Given the description of an element on the screen output the (x, y) to click on. 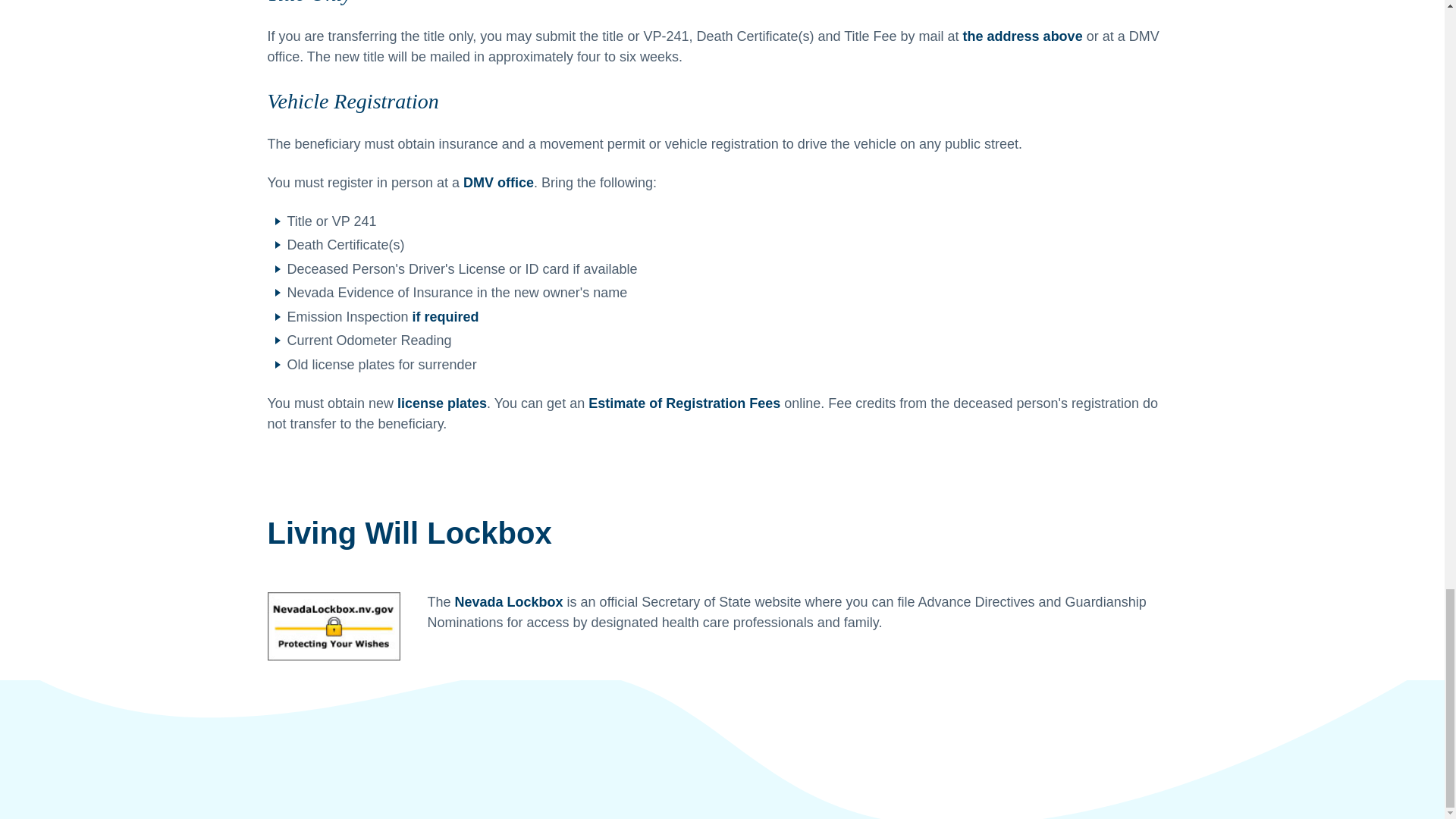
license plates (441, 403)
DMV office (498, 182)
Nevada Lockbox (508, 601)
the address above (1022, 36)
if required (445, 316)
Estimate of Registration Fees (684, 403)
